Given the description of an element on the screen output the (x, y) to click on. 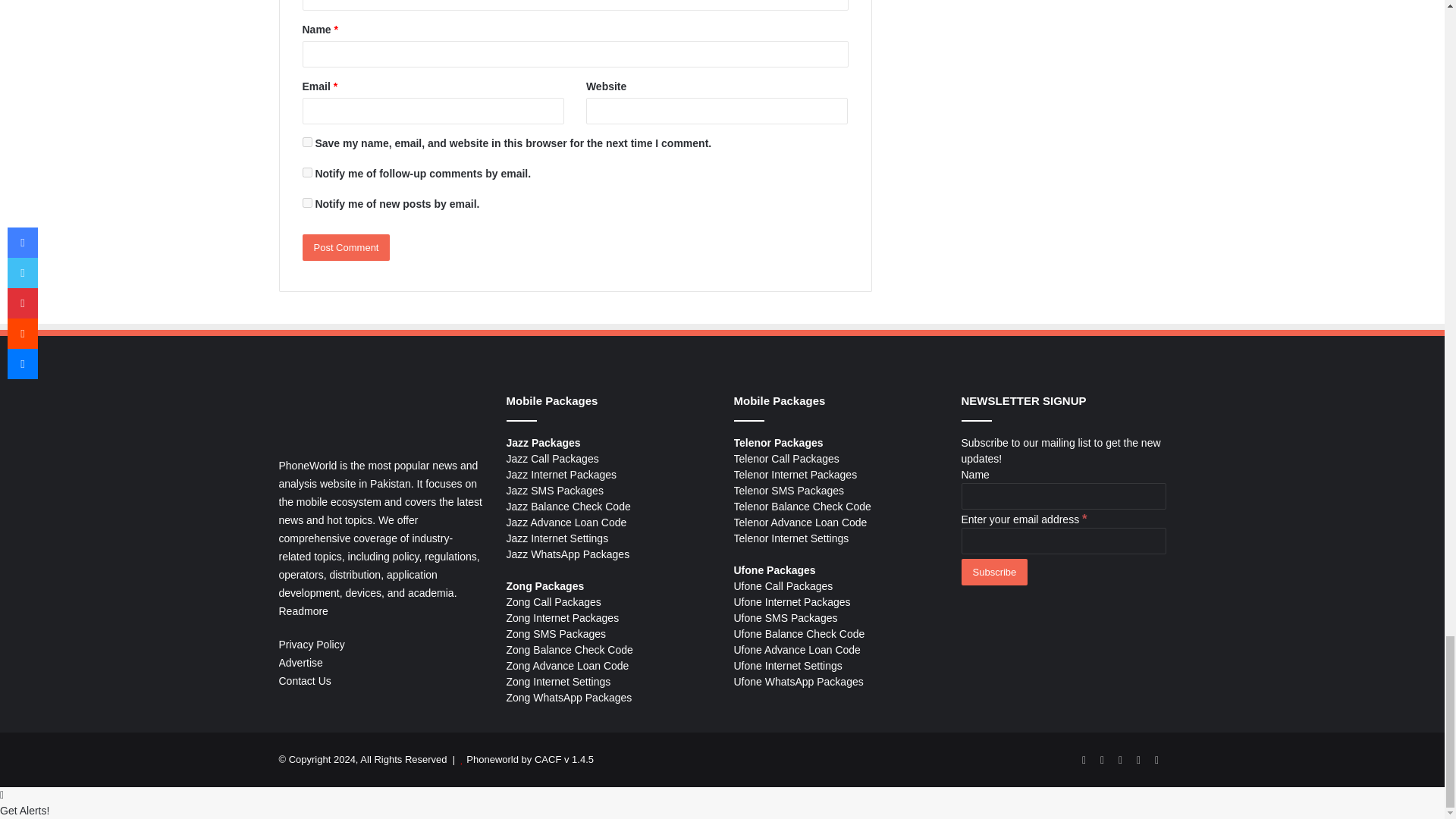
subscribe (306, 203)
Subscribe (993, 571)
Post Comment (345, 247)
subscribe (306, 172)
yes (306, 142)
